Given the description of an element on the screen output the (x, y) to click on. 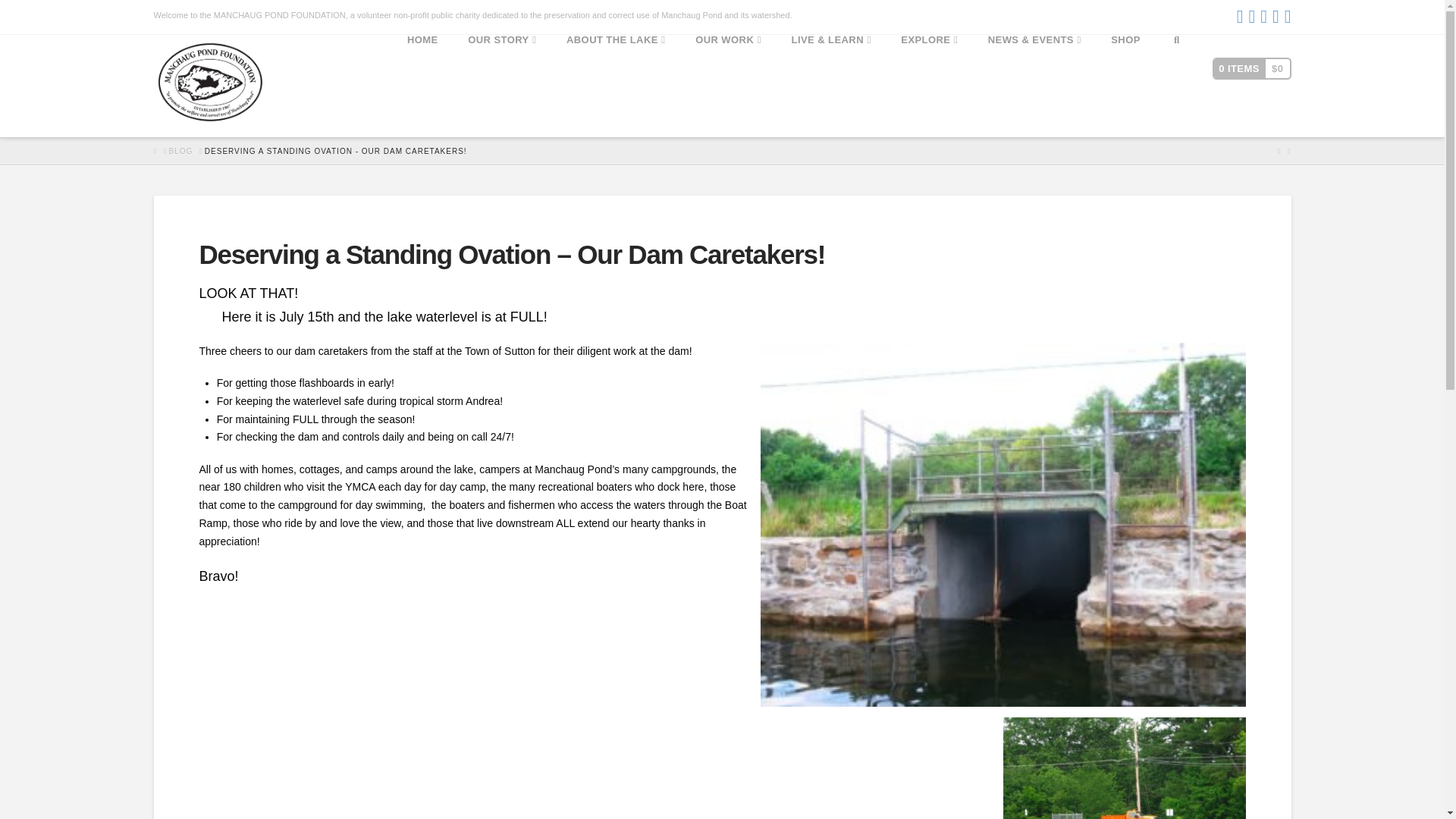
OUR WORK (727, 86)
ABOUT THE LAKE (615, 86)
You Are Here (336, 150)
OUR STORY (501, 86)
